Given the description of an element on the screen output the (x, y) to click on. 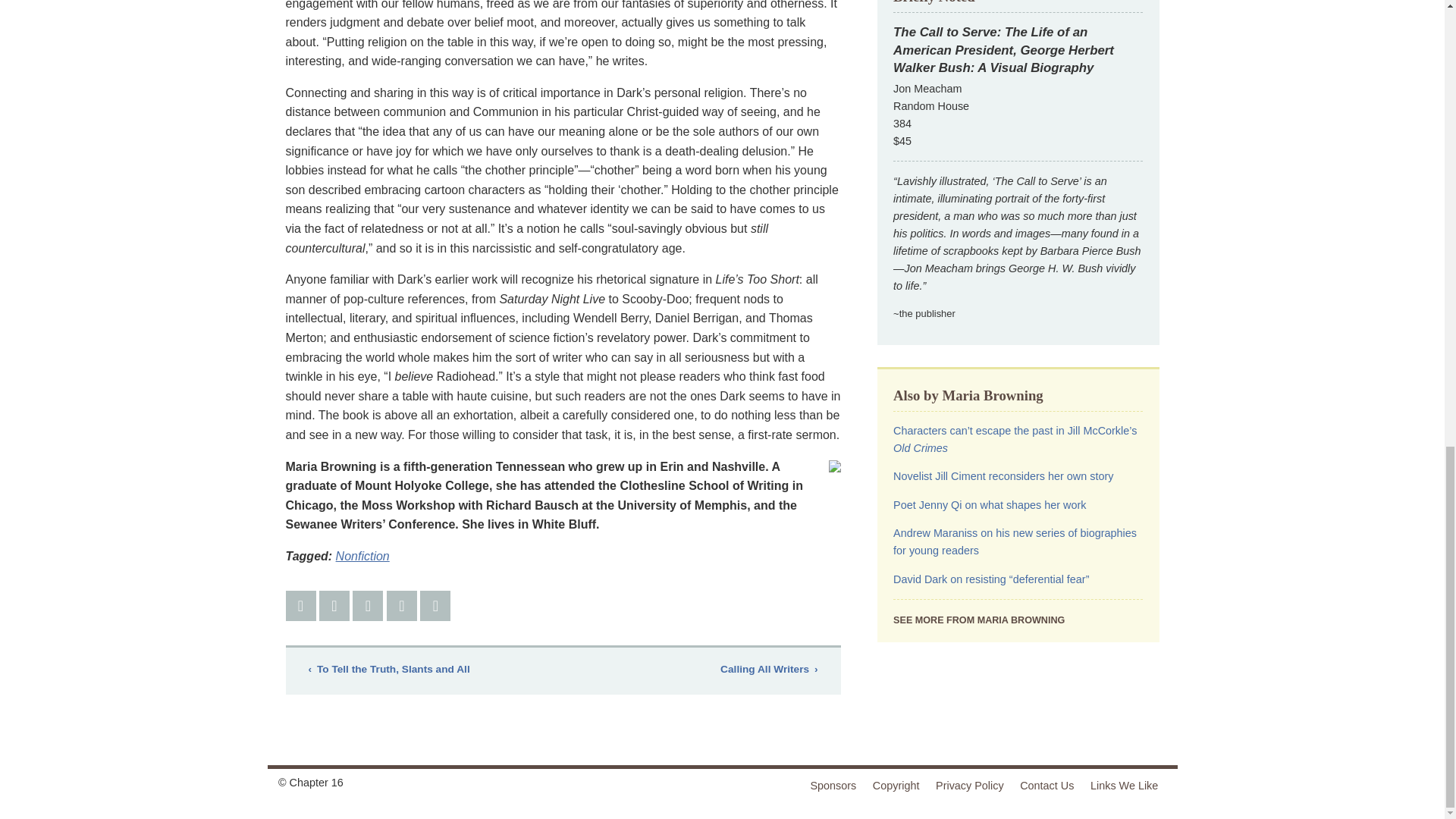
Nonfiction (363, 555)
Email (401, 605)
To Tell the Truth, Slants and All (388, 669)
Print (434, 605)
Share on Facebook (300, 605)
Tweet (333, 605)
Calling All Writers (769, 669)
